Given the description of an element on the screen output the (x, y) to click on. 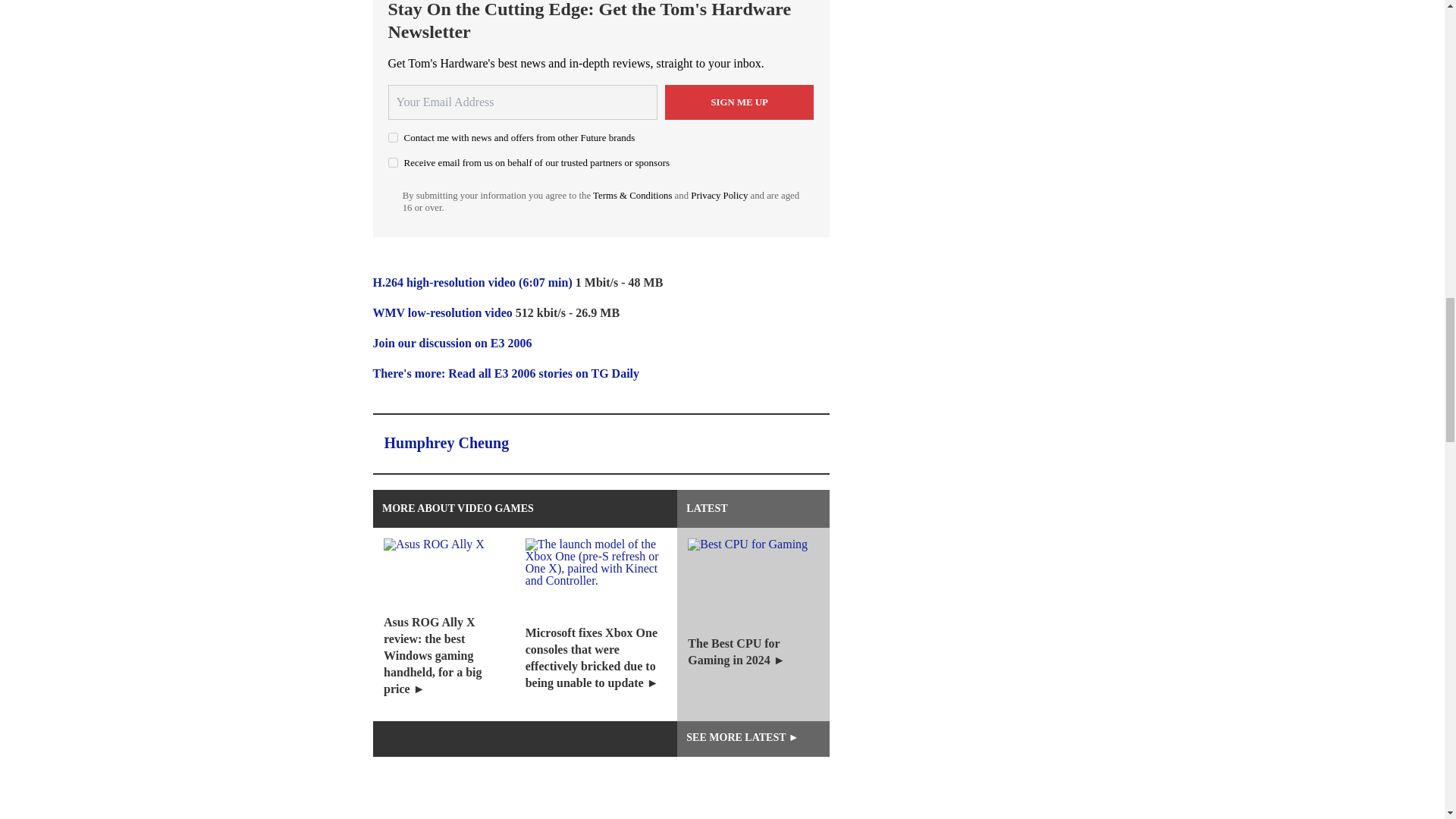
on (392, 162)
on (392, 137)
Sign me up (739, 102)
